Given the description of an element on the screen output the (x, y) to click on. 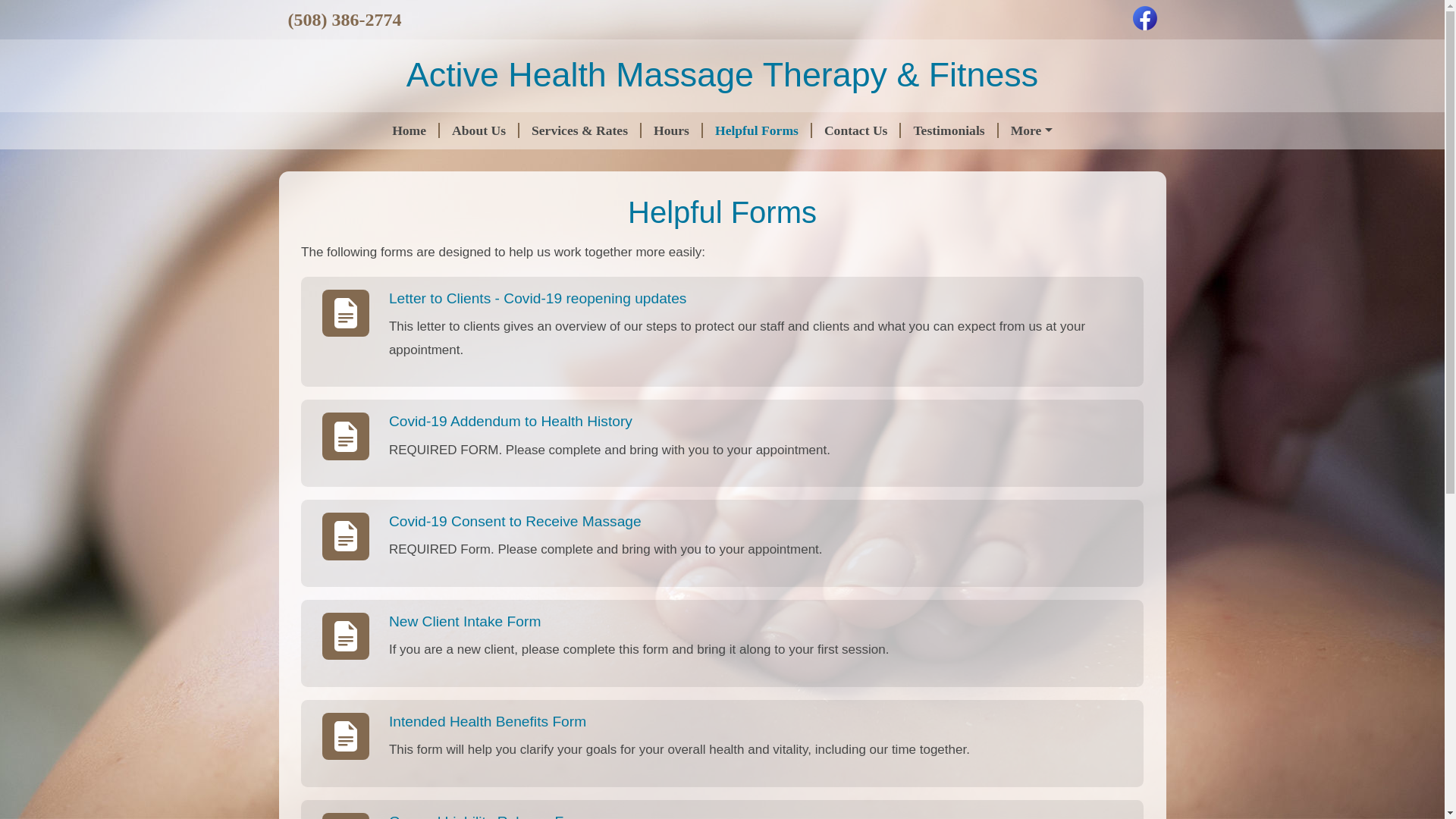
Testimonials (949, 130)
Contact Us (856, 130)
Covid-19 Addendum to Health History (509, 421)
Hours (672, 130)
Home (409, 130)
General Liability Release Form (488, 816)
Letter to Clients - Covid-19 reopening updates (537, 298)
Intended Health Benefits Form (487, 721)
More (1031, 130)
Helpful Forms (757, 130)
